Given the description of an element on the screen output the (x, y) to click on. 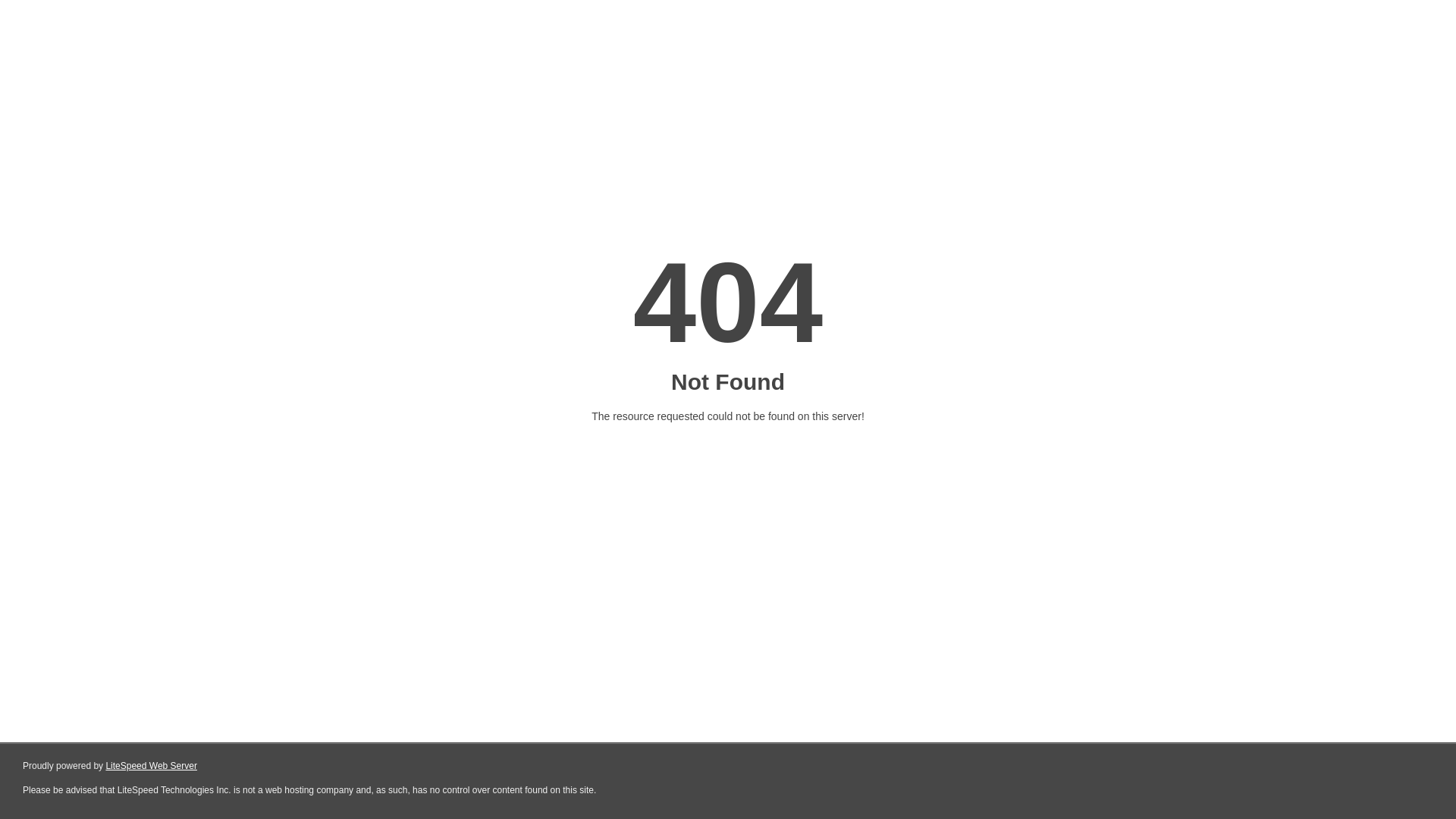
LiteSpeed Web Server Element type: text (151, 765)
